Given the description of an element on the screen output the (x, y) to click on. 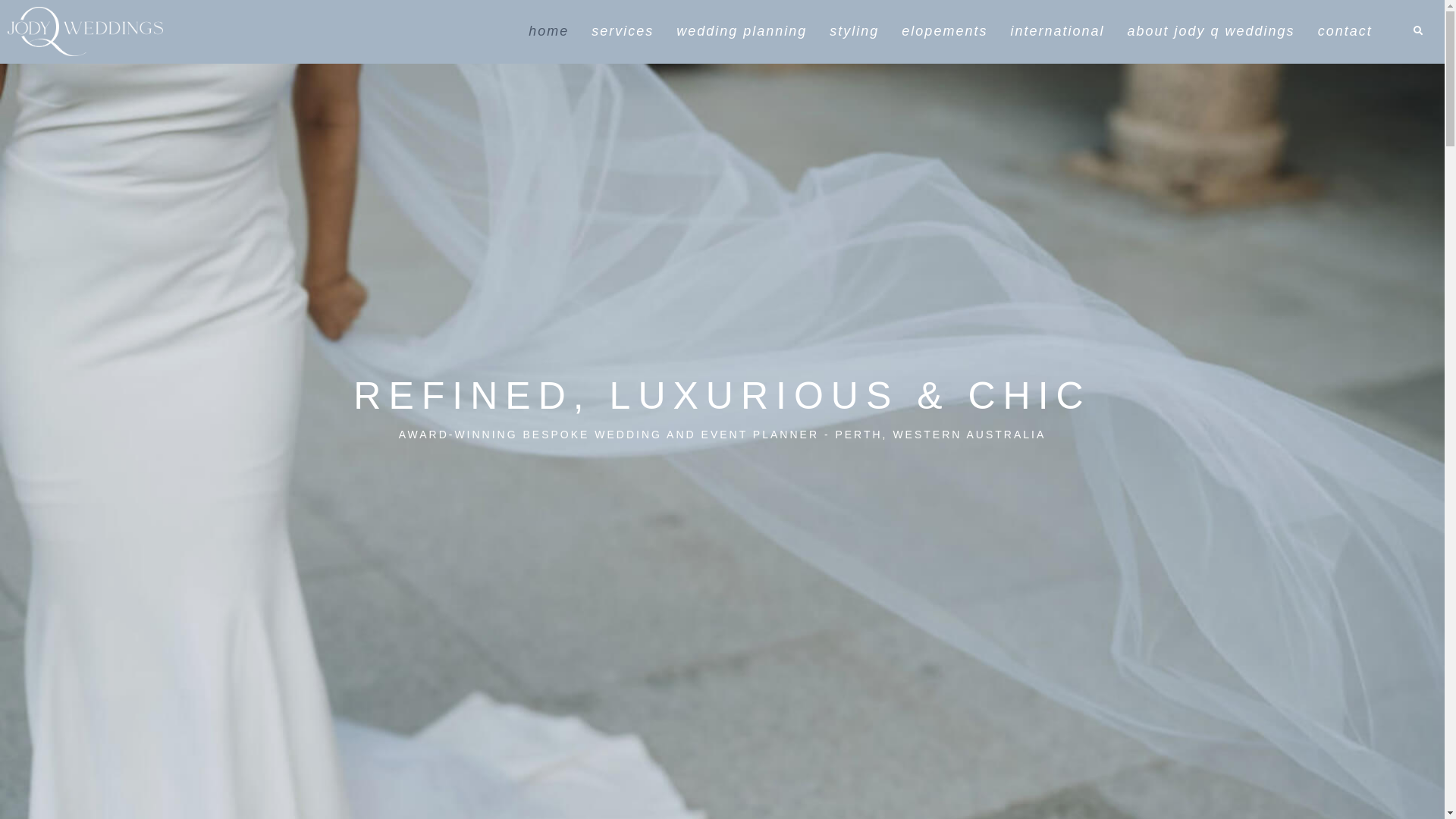
elopements Element type: text (944, 30)
home Element type: text (548, 30)
styling Element type: text (853, 30)
international Element type: text (1057, 30)
services Element type: text (622, 30)
about jody q weddings Element type: text (1210, 30)
wedding planning Element type: text (741, 30)
contact Element type: text (1344, 30)
